Given the description of an element on the screen output the (x, y) to click on. 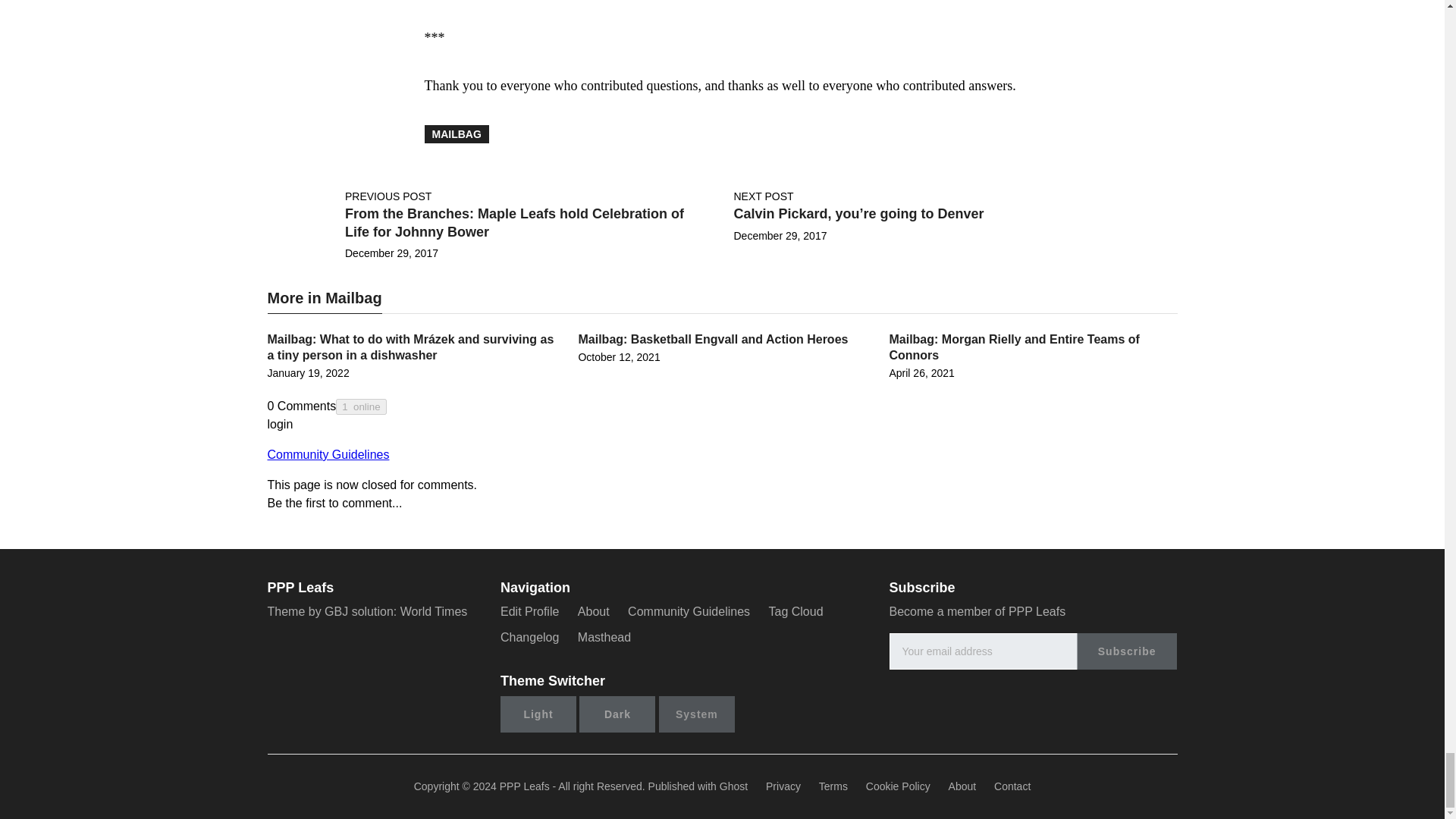
29 December, 2017 (391, 253)
12 October, 2021 (618, 357)
29 December, 2017 (780, 235)
19 January, 2022 (307, 372)
26 April, 2021 (920, 372)
